Given the description of an element on the screen output the (x, y) to click on. 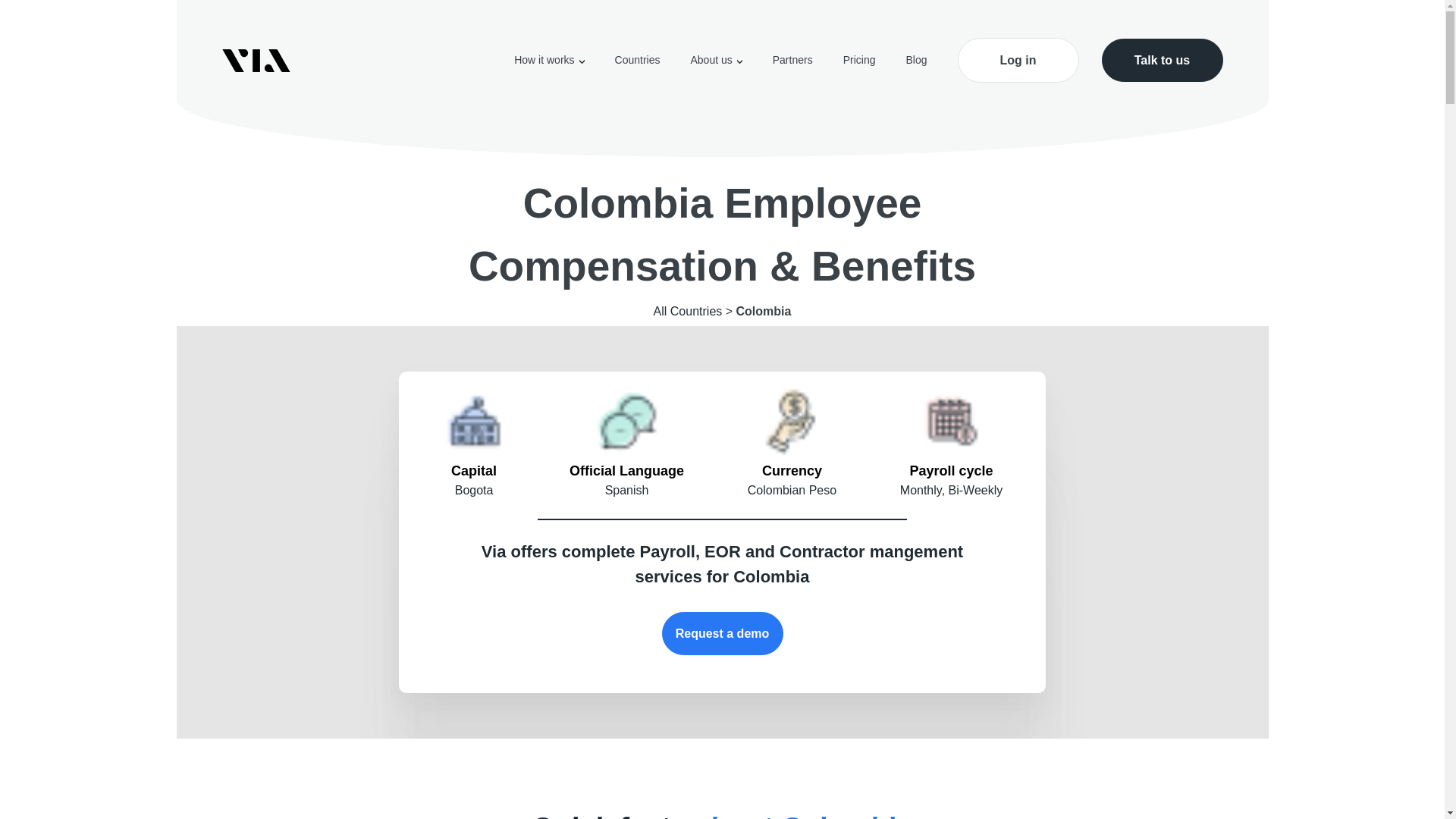
Request a demo (722, 633)
Countries (637, 60)
Pricing (859, 60)
Talk to us (1161, 59)
Partners (792, 60)
Blog (915, 60)
All Countries (687, 310)
Log in (1017, 59)
